Given the description of an element on the screen output the (x, y) to click on. 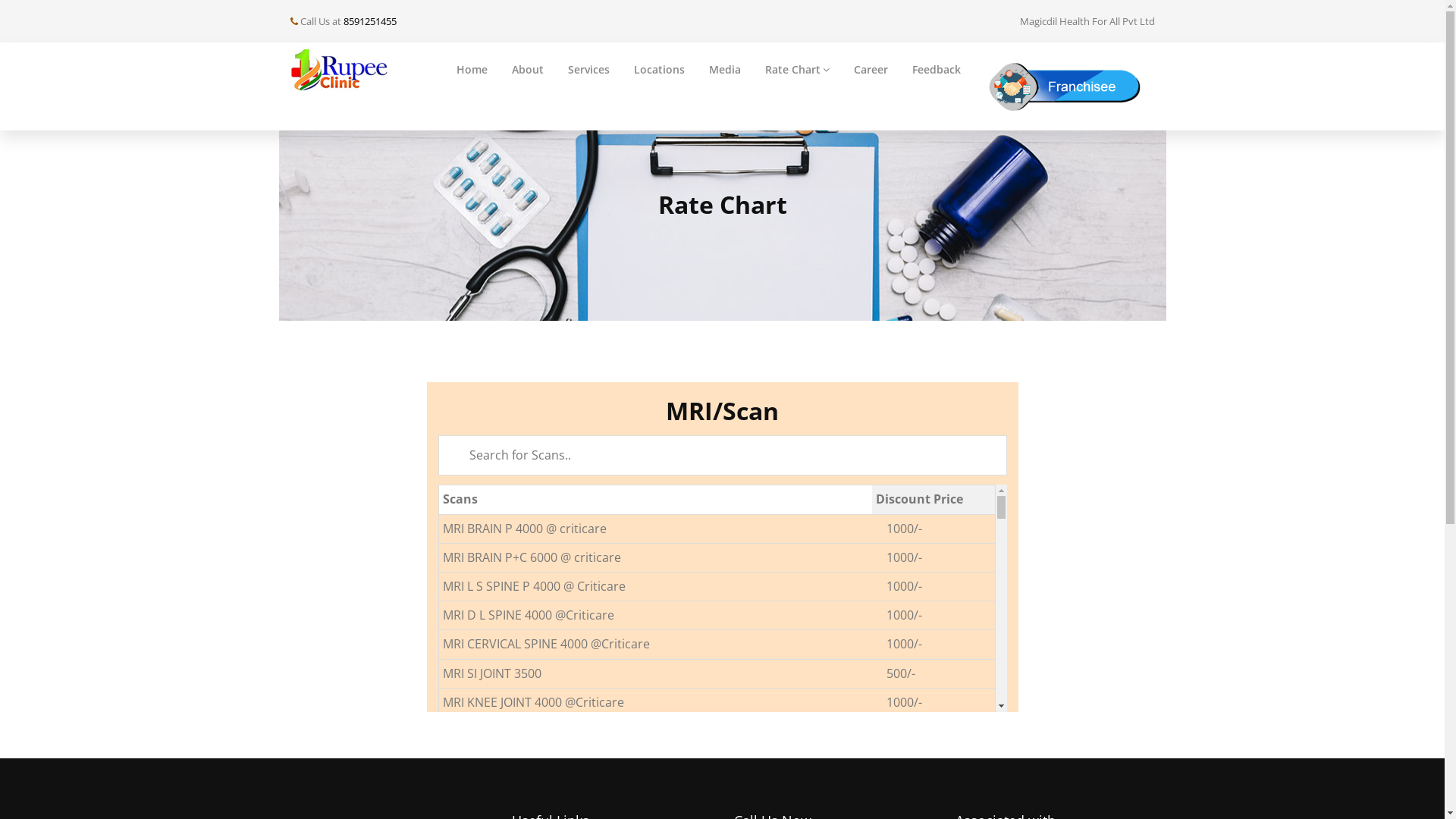
About Element type: text (527, 69)
Career Element type: text (870, 69)
Services Element type: text (588, 69)
Rate Chart Element type: text (797, 69)
Locations Element type: text (658, 69)
8591251455 Element type: text (368, 21)
Feedback Element type: text (936, 69)
Type in a name Element type: hover (722, 455)
Home Element type: text (471, 69)
Media Element type: text (724, 69)
